Given the description of an element on the screen output the (x, y) to click on. 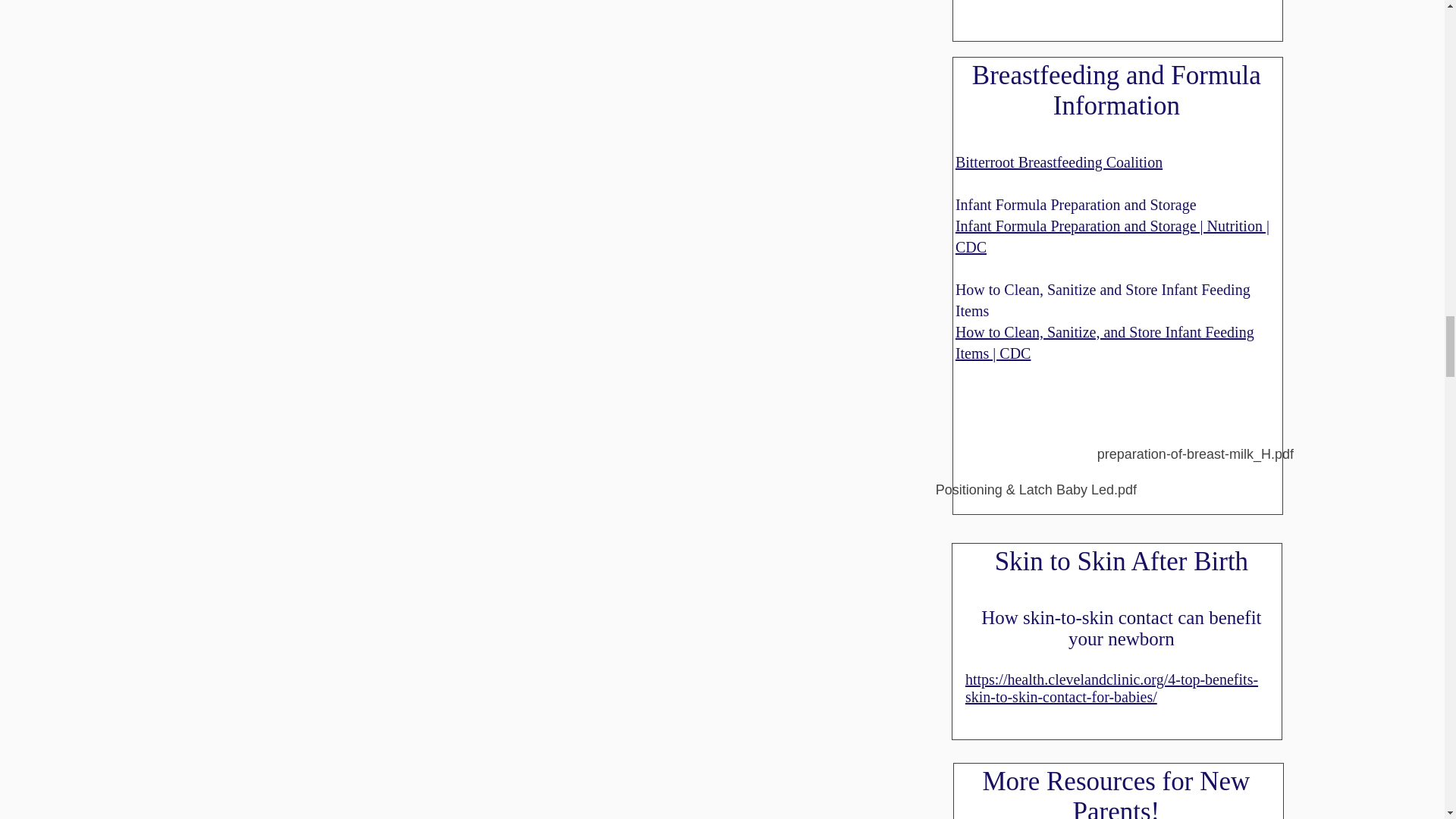
Bitterroot Breastfeeding Coalition (1058, 161)
